Given the description of an element on the screen output the (x, y) to click on. 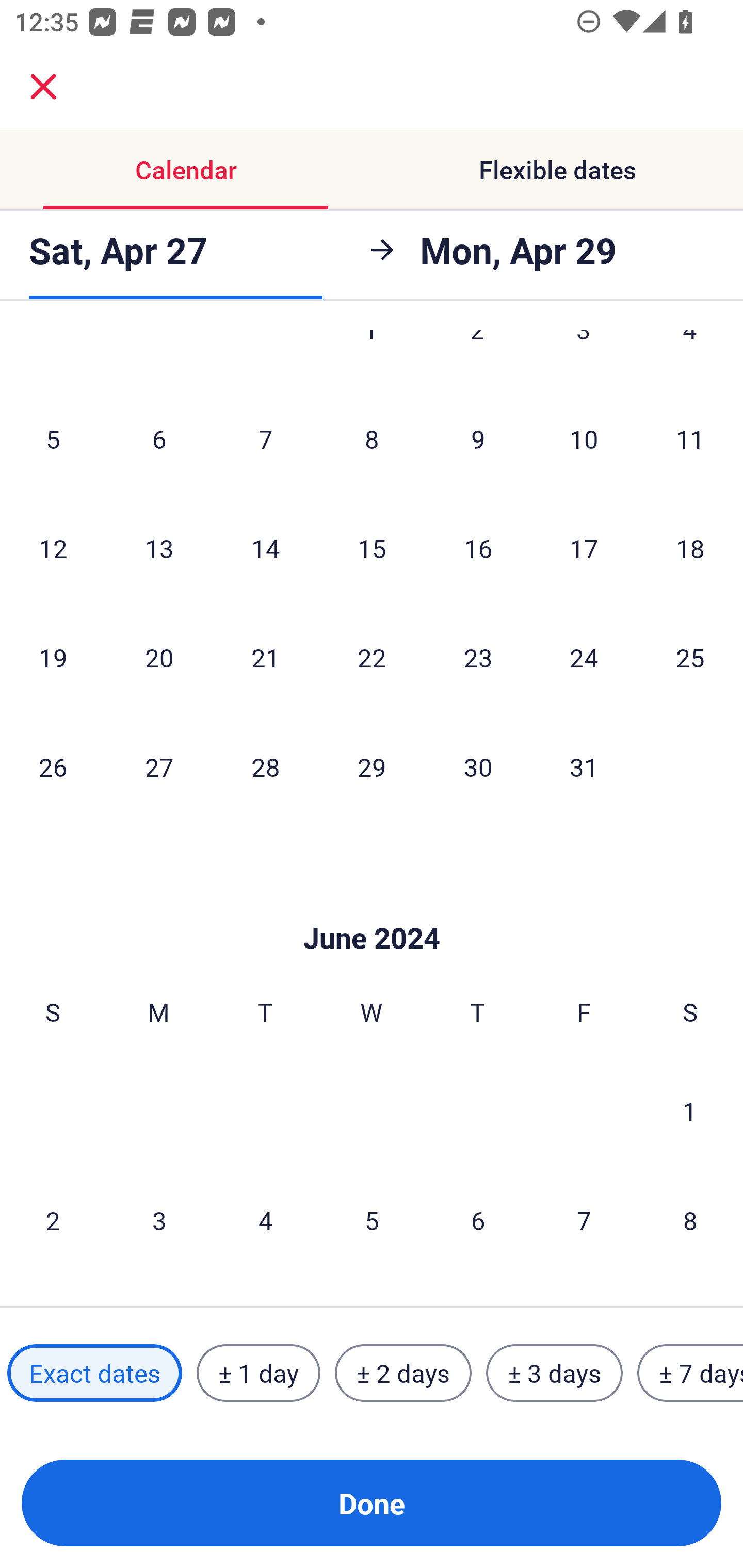
close. (43, 86)
Flexible dates (557, 170)
6 Monday, May 6, 2024 (159, 437)
7 Tuesday, May 7, 2024 (265, 437)
8 Wednesday, May 8, 2024 (371, 437)
9 Thursday, May 9, 2024 (477, 437)
10 Friday, May 10, 2024 (584, 437)
11 Saturday, May 11, 2024 (690, 437)
12 Sunday, May 12, 2024 (53, 547)
13 Monday, May 13, 2024 (159, 547)
14 Tuesday, May 14, 2024 (265, 547)
15 Wednesday, May 15, 2024 (371, 547)
16 Thursday, May 16, 2024 (477, 547)
17 Friday, May 17, 2024 (584, 547)
18 Saturday, May 18, 2024 (690, 547)
19 Sunday, May 19, 2024 (53, 657)
20 Monday, May 20, 2024 (159, 657)
21 Tuesday, May 21, 2024 (265, 657)
22 Wednesday, May 22, 2024 (371, 657)
23 Thursday, May 23, 2024 (477, 657)
24 Friday, May 24, 2024 (584, 657)
25 Saturday, May 25, 2024 (690, 657)
26 Sunday, May 26, 2024 (53, 766)
27 Monday, May 27, 2024 (159, 766)
28 Tuesday, May 28, 2024 (265, 766)
29 Wednesday, May 29, 2024 (371, 766)
30 Thursday, May 30, 2024 (477, 766)
31 Friday, May 31, 2024 (584, 766)
Skip to Done (371, 906)
1 Saturday, June 1, 2024 (689, 1110)
2 Sunday, June 2, 2024 (53, 1219)
3 Monday, June 3, 2024 (159, 1219)
4 Tuesday, June 4, 2024 (265, 1219)
5 Wednesday, June 5, 2024 (371, 1219)
6 Thursday, June 6, 2024 (477, 1219)
7 Friday, June 7, 2024 (584, 1219)
8 Saturday, June 8, 2024 (690, 1219)
Exact dates (94, 1372)
± 1 day (258, 1372)
± 2 days (403, 1372)
± 3 days (553, 1372)
± 7 days (690, 1372)
Done (371, 1502)
